Given the description of an element on the screen output the (x, y) to click on. 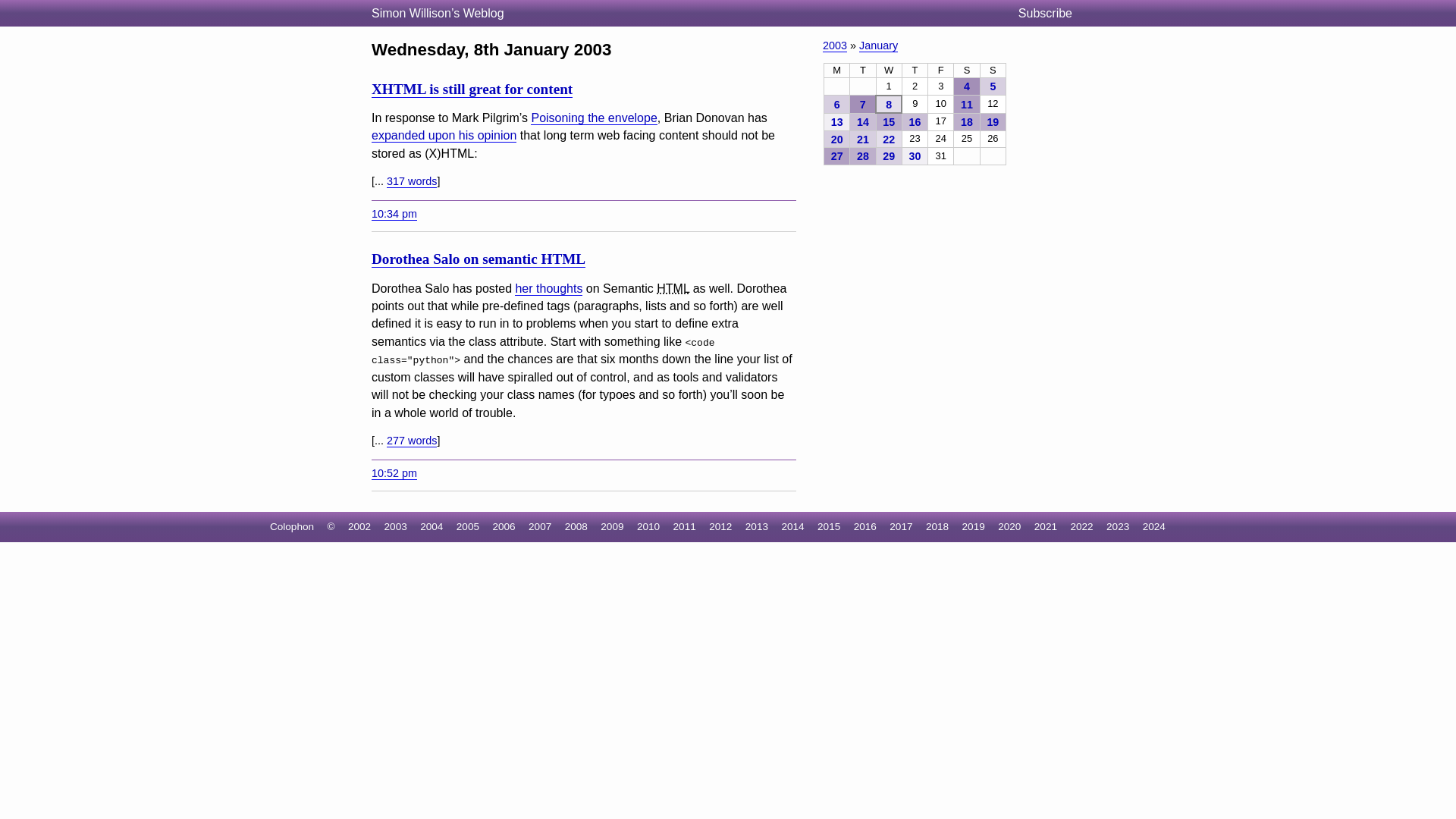
Colophon (291, 526)
5 Entries (992, 121)
7 (862, 104)
Dorothea Salo on semantic HTML (478, 258)
2008 (576, 526)
16 (914, 121)
3 Entries (836, 104)
8 (888, 104)
6 (836, 104)
Subscribe (1050, 13)
